Given the description of an element on the screen output the (x, y) to click on. 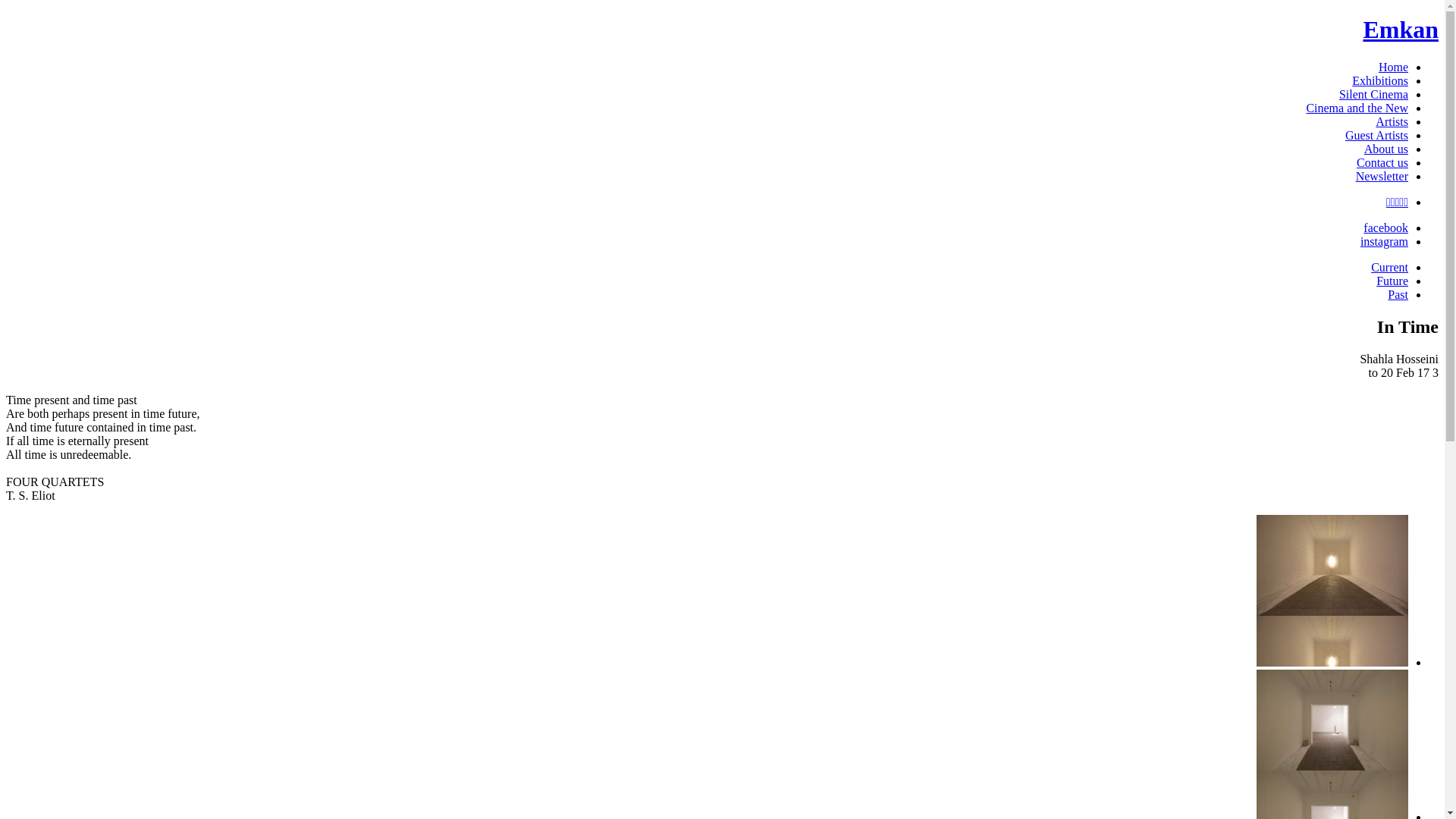
About us Element type: text (1386, 148)
Contact us Element type: text (1382, 162)
Newsletter Element type: text (1381, 175)
Current Element type: text (1389, 266)
Artists Element type: text (1391, 121)
Guest Artists Element type: text (1376, 134)
Silent Cinema Element type: text (1373, 93)
Future Element type: text (1392, 280)
instagram Element type: text (1384, 241)
<br>
 Element type: hover (1332, 661)
Click to enlarge image 04.jpg Element type: hover (1332, 590)
facebook Element type: text (1385, 227)
Past Element type: text (1397, 294)
Home Element type: text (1393, 66)
Emkan Element type: text (1400, 29)
Cinema and the New Element type: text (1356, 107)
Exhibitions Element type: text (1380, 80)
